Given the description of an element on the screen output the (x, y) to click on. 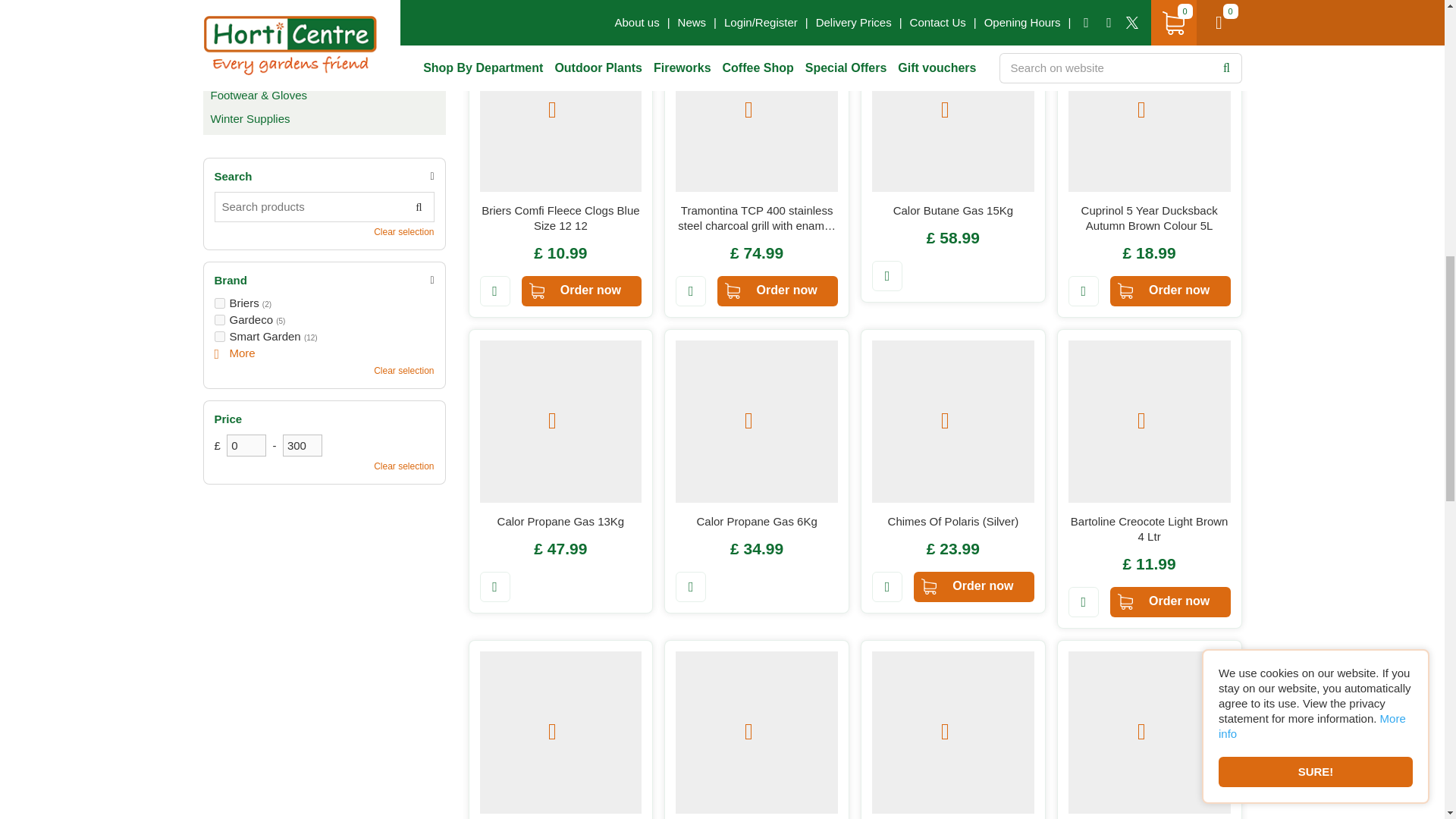
0 (246, 445)
smart-garden (219, 336)
gardeco (219, 319)
briers (219, 303)
300 (301, 445)
